Given the description of an element on the screen output the (x, y) to click on. 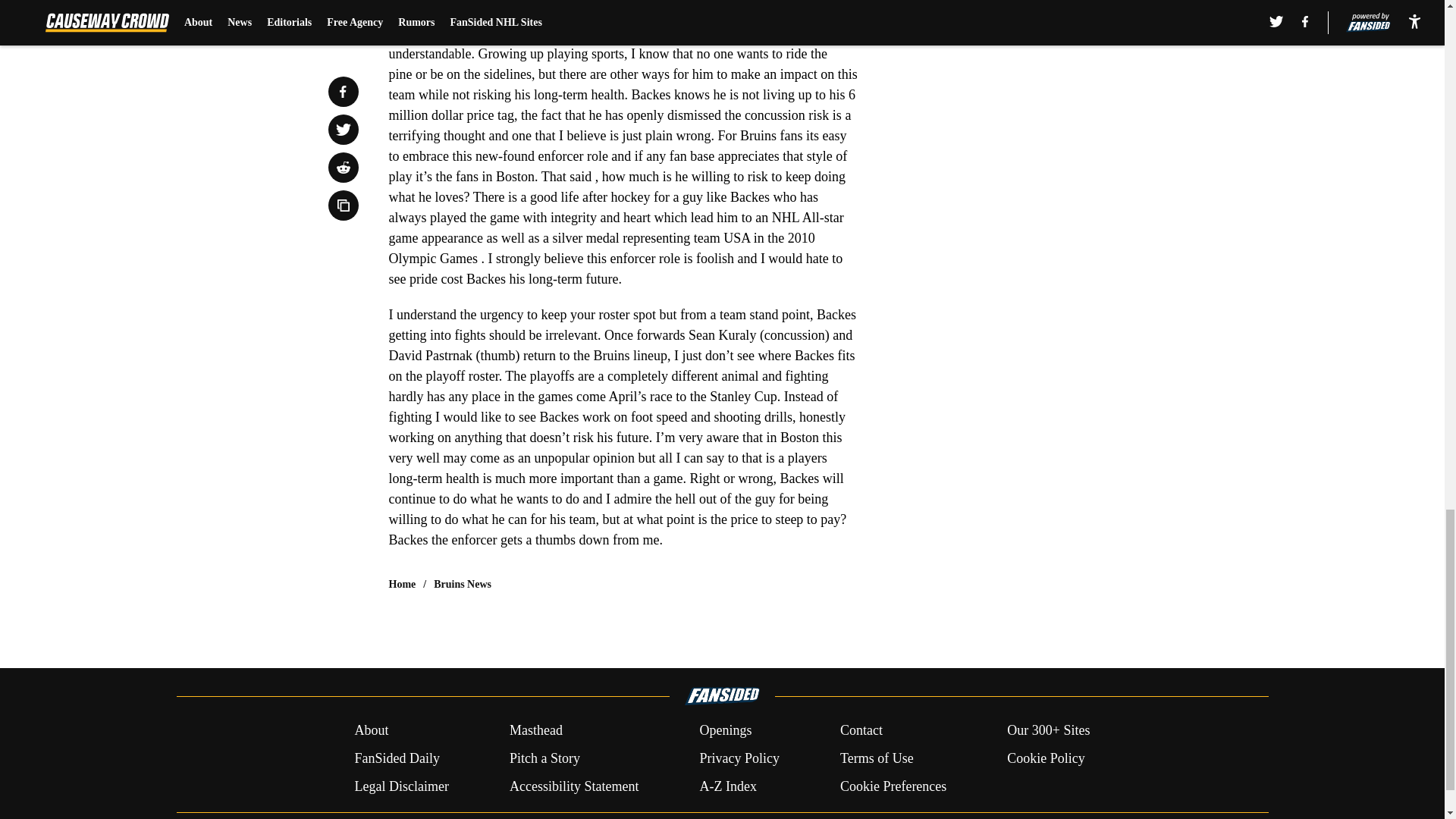
Terms of Use (877, 758)
Bruins News (462, 584)
Cookie Preferences (893, 786)
Contact (861, 730)
FanSided Daily (396, 758)
Pitch a Story (544, 758)
A-Z Index (726, 786)
Privacy Policy (738, 758)
Masthead (535, 730)
Home (401, 584)
About (370, 730)
Openings (724, 730)
Accessibility Statement (574, 786)
Legal Disclaimer (400, 786)
Cookie Policy (1045, 758)
